Given the description of an element on the screen output the (x, y) to click on. 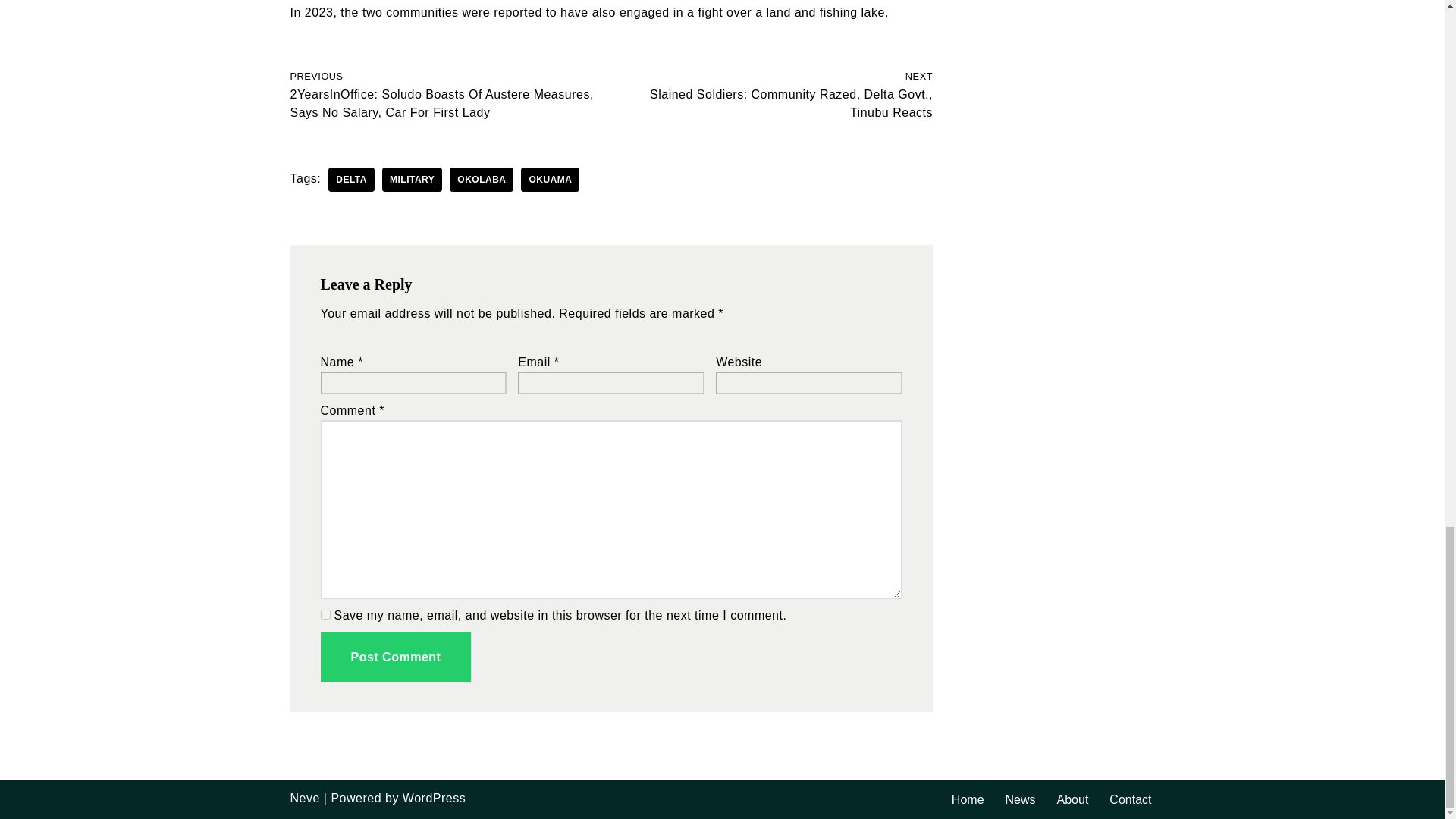
Home (968, 799)
Post Comment (395, 657)
Post Comment (395, 657)
MILITARY (411, 179)
Okuama (550, 179)
WordPress (434, 797)
yes (325, 614)
Okolaba (481, 179)
OKOLABA (481, 179)
Delta (351, 179)
OKUAMA (550, 179)
Neve (303, 797)
Military (411, 179)
